Given the description of an element on the screen output the (x, y) to click on. 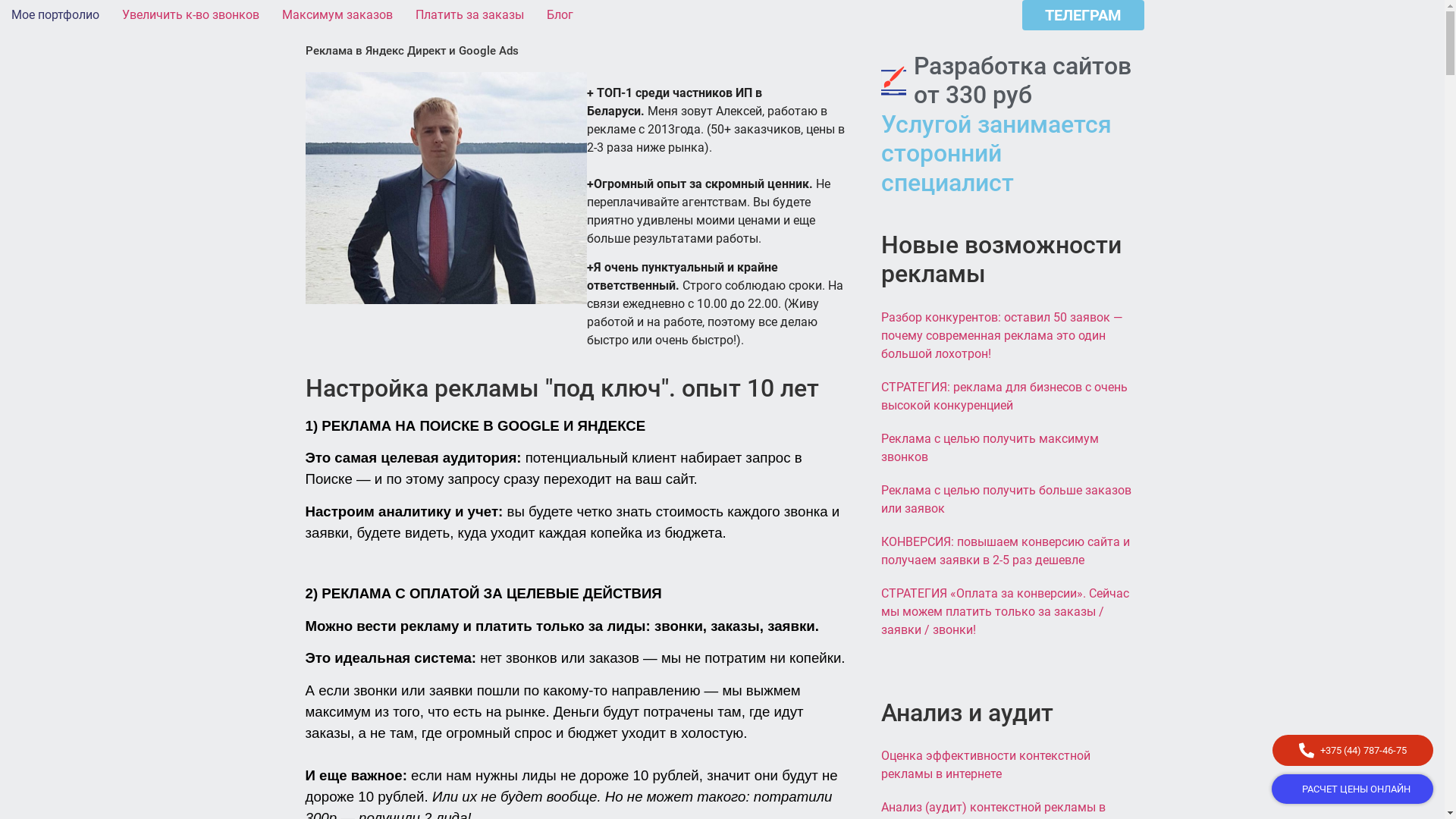
+375 (44) 787-46-75 Element type: text (1352, 749)
